Given the description of an element on the screen output the (x, y) to click on. 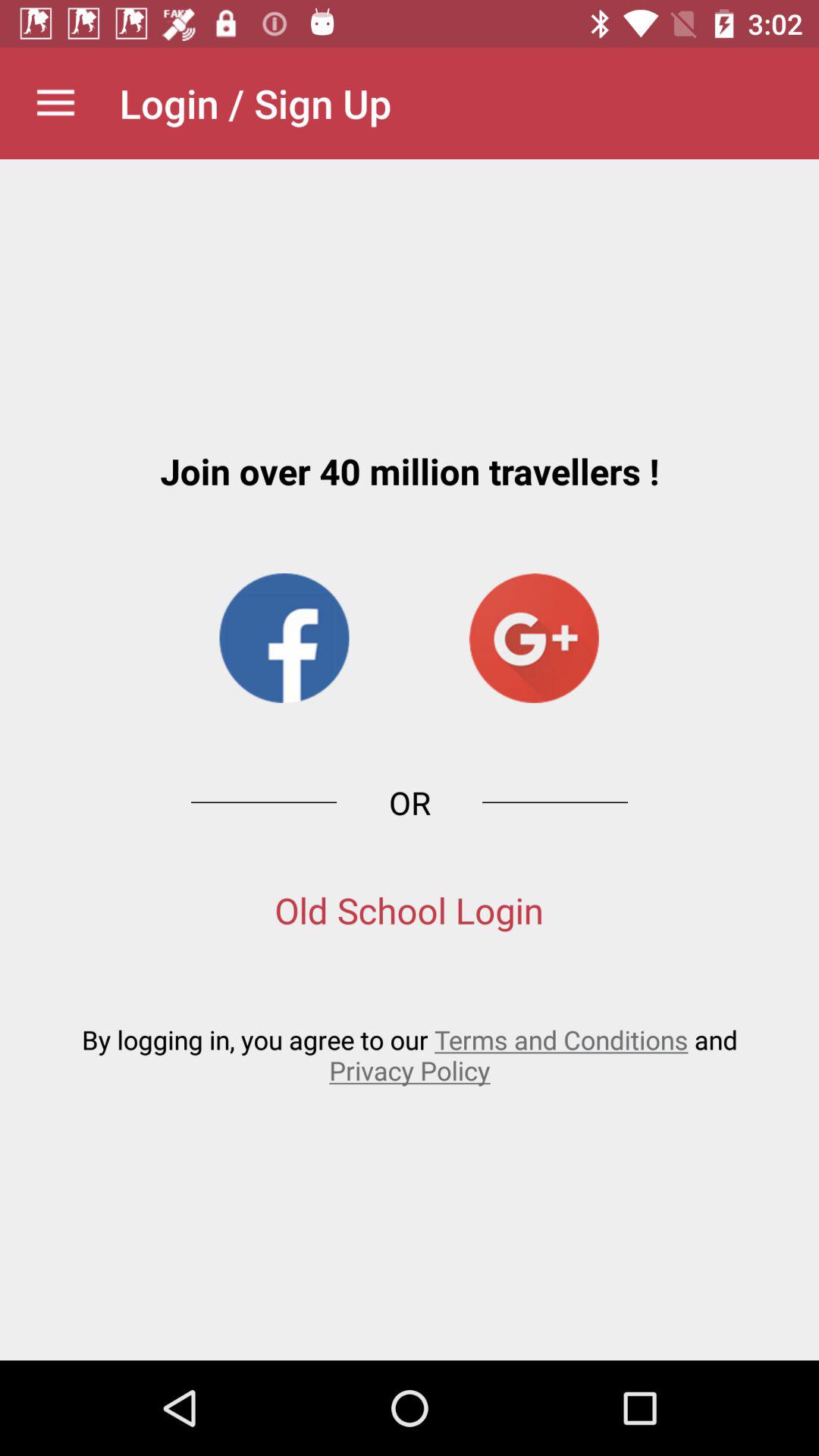
launch the by logging in icon (409, 1055)
